Given the description of an element on the screen output the (x, y) to click on. 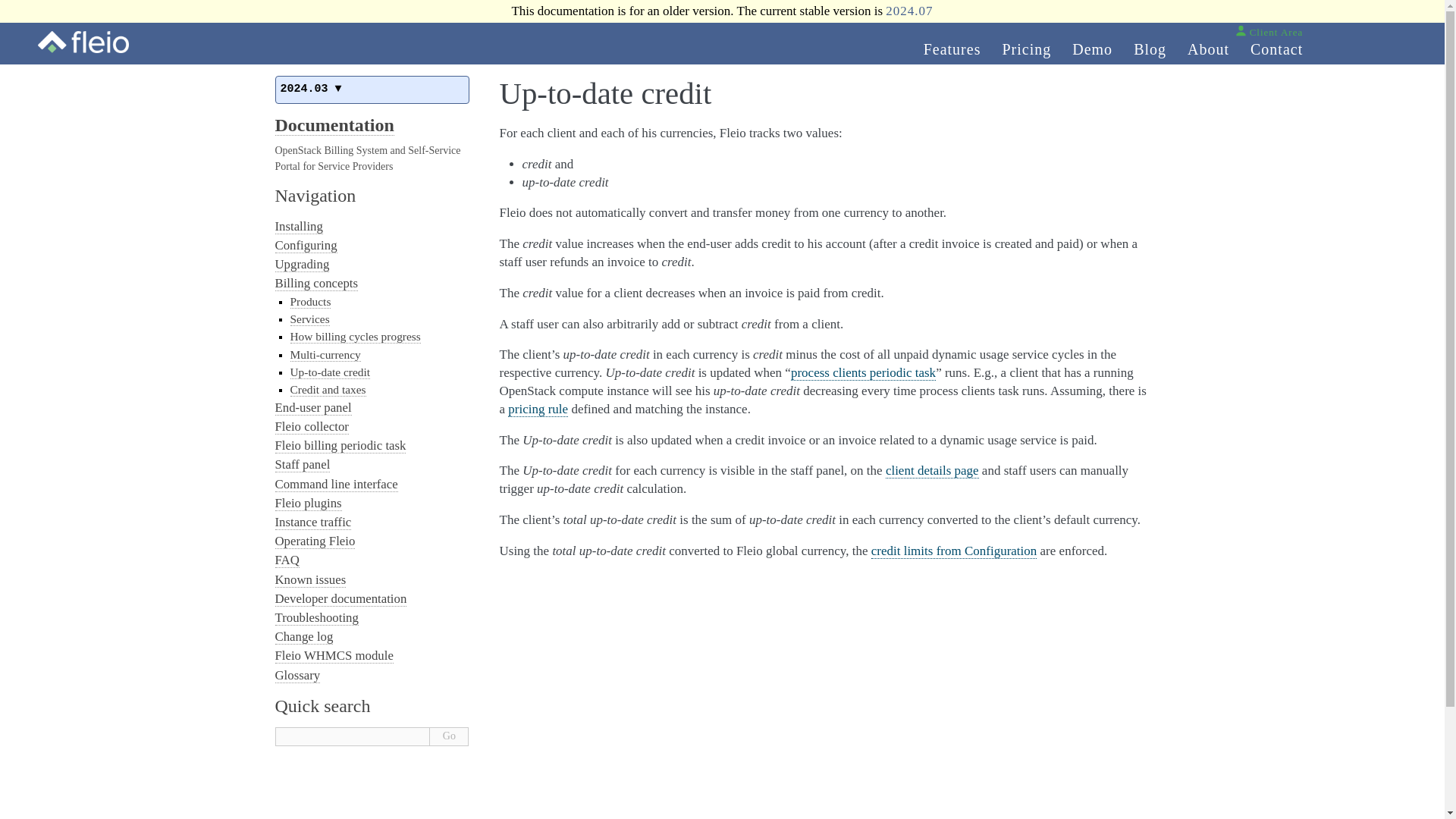
Products (309, 301)
Contact (1276, 42)
Services (309, 318)
Fleio: OpenStack Billing System and Control Panel (83, 42)
Documentation (334, 125)
Select Fleio version for documentation  (371, 90)
How billing cycles progress (354, 336)
2024.07 (909, 11)
Blog (1149, 42)
Configuring (305, 245)
About (1207, 42)
Credit and taxes (327, 389)
Features (951, 42)
Go (448, 736)
Demo (1091, 42)
